Given the description of an element on the screen output the (x, y) to click on. 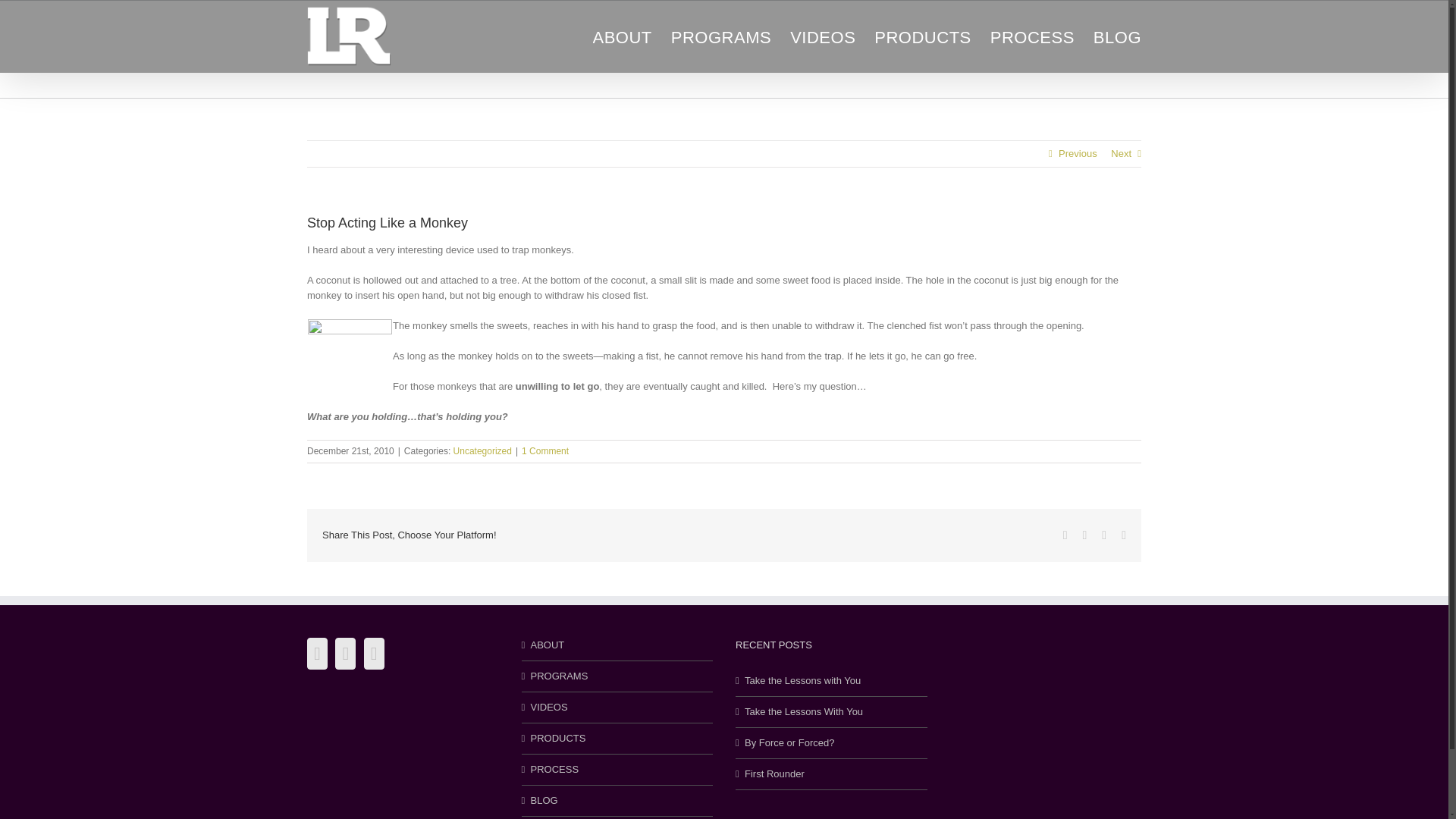
Previous (1077, 153)
PROCESS (618, 769)
First Rounder (832, 774)
1 Comment (545, 450)
VIDEOS (618, 707)
Take the Lessons with You (832, 680)
BLOG (618, 800)
PROCESS (1032, 35)
VIDEOS (823, 35)
Our Process (1032, 35)
Take the Lessons With You (832, 711)
PROGRAMS (618, 676)
PRODUCTS (923, 35)
Products  (923, 35)
ABOUT (618, 645)
